Given the description of an element on the screen output the (x, y) to click on. 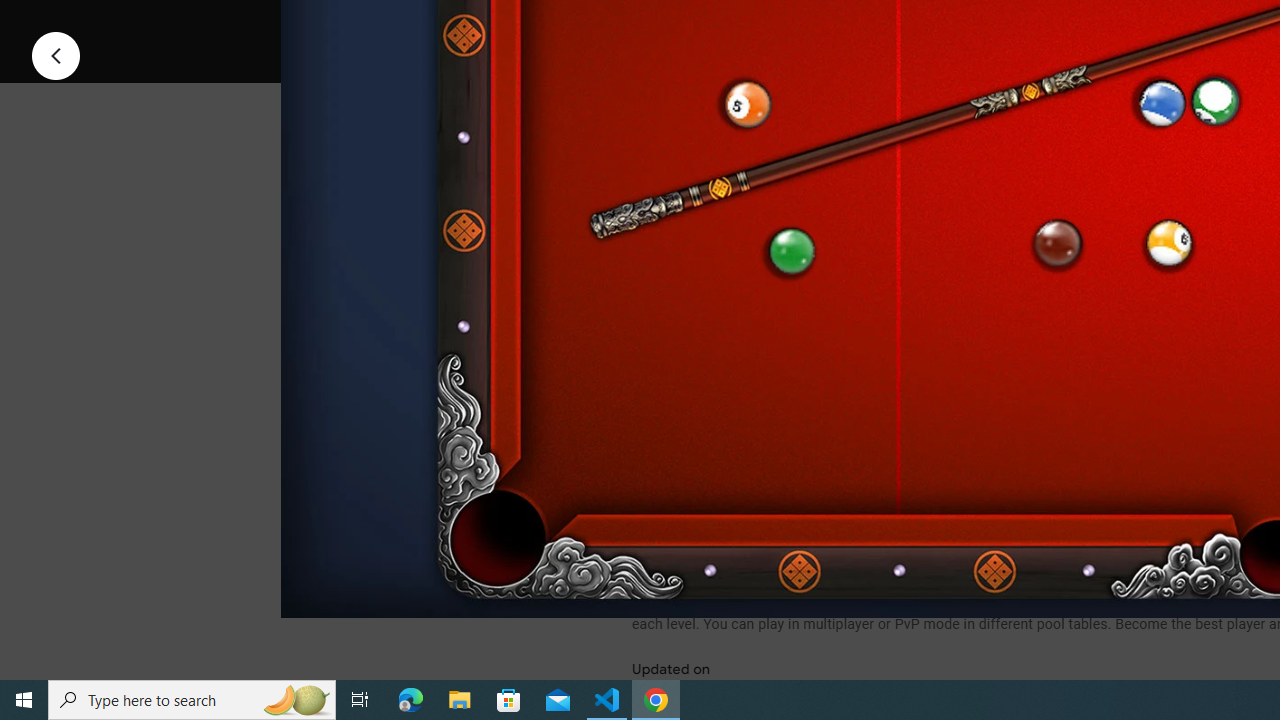
See more information on About this game (830, 477)
Share (890, 24)
Install (732, 24)
Add to wishlist (1014, 24)
Screenshot image (895, 271)
Previous (55, 54)
